Given the description of an element on the screen output the (x, y) to click on. 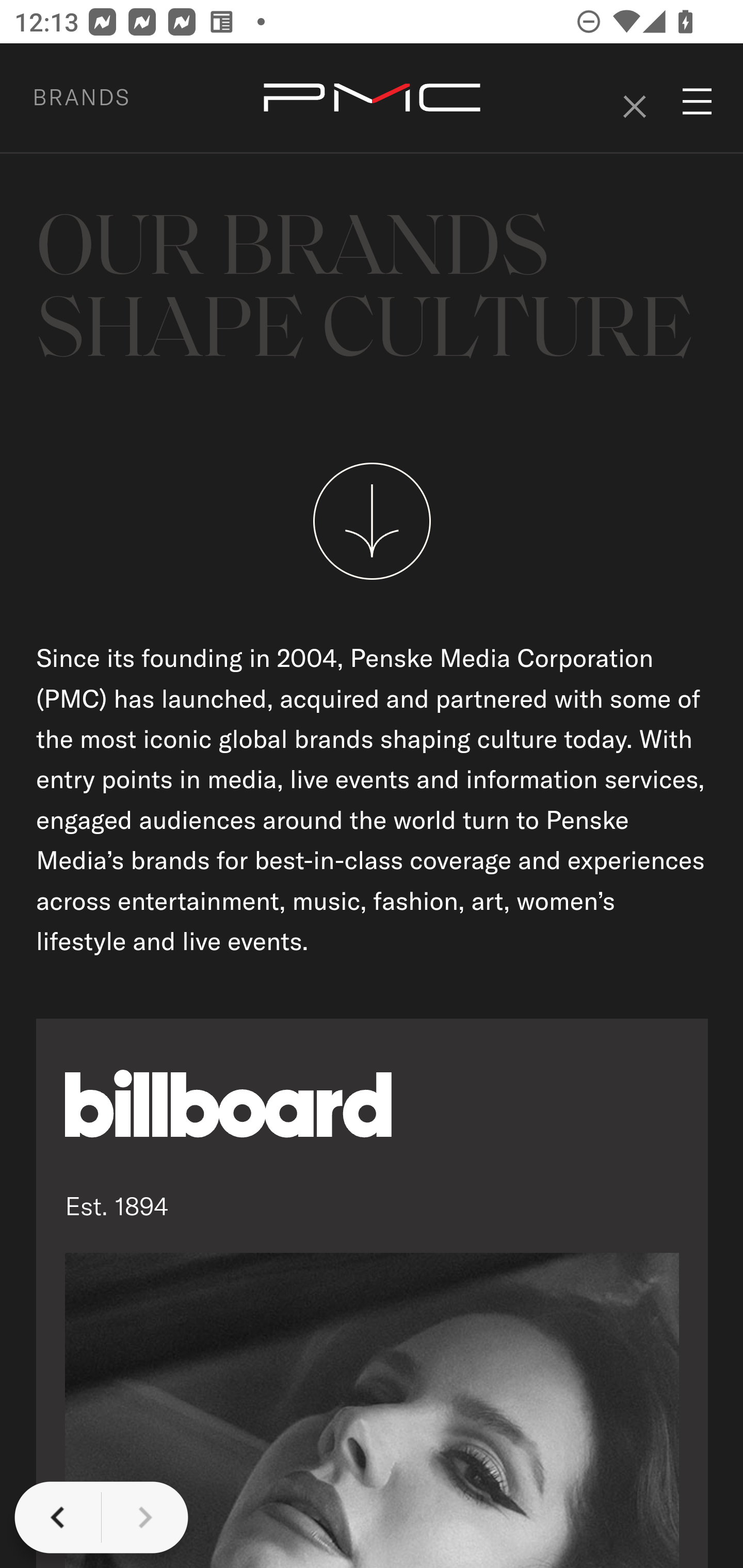
home (371, 98)
BRANDS (105, 96)
# (633, 98)
menu (697, 101)
Est. 1894 Est. 1894 (372, 1292)
